Given the description of an element on the screen output the (x, y) to click on. 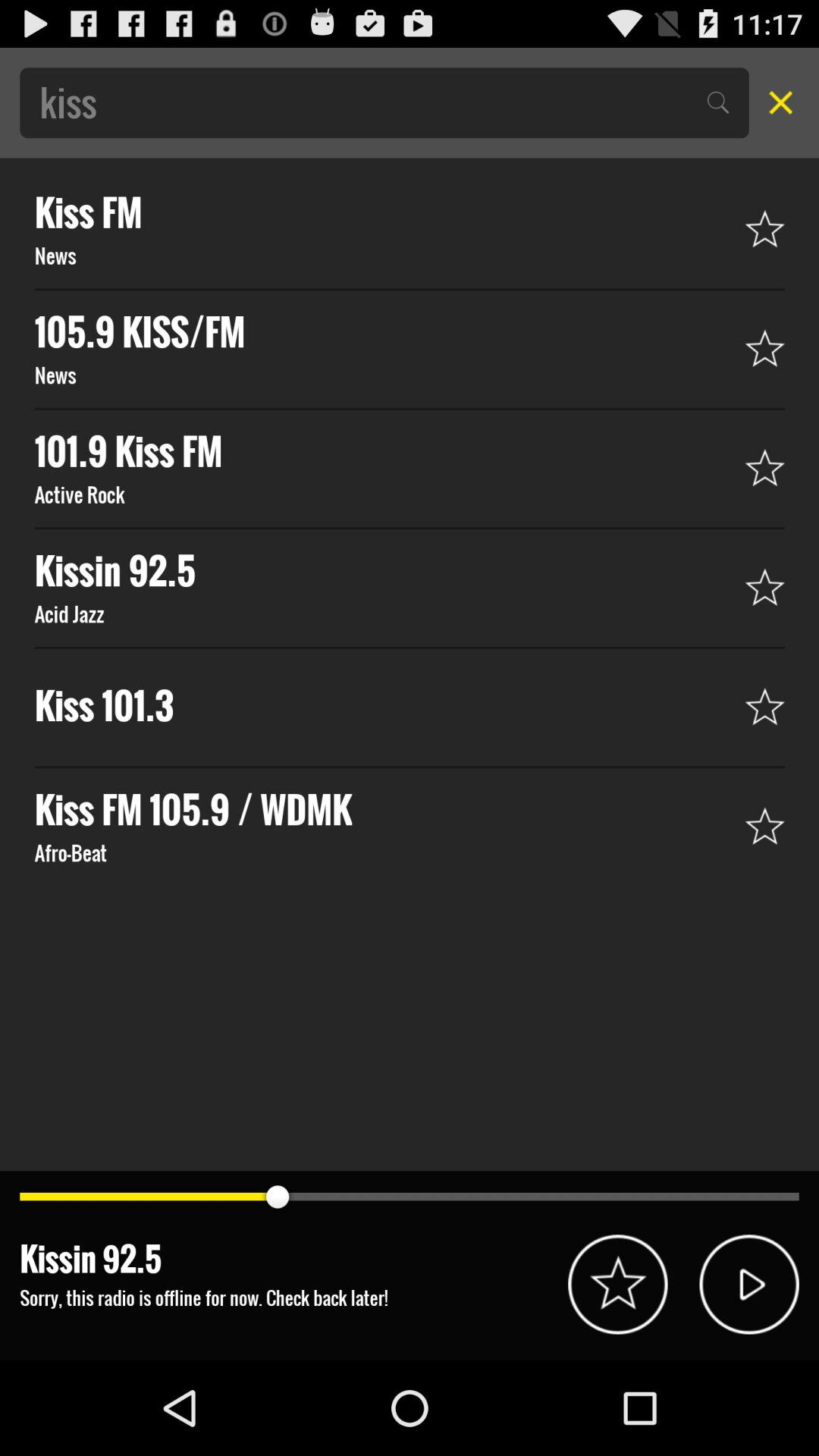
play (749, 1284)
